Given the description of an element on the screen output the (x, y) to click on. 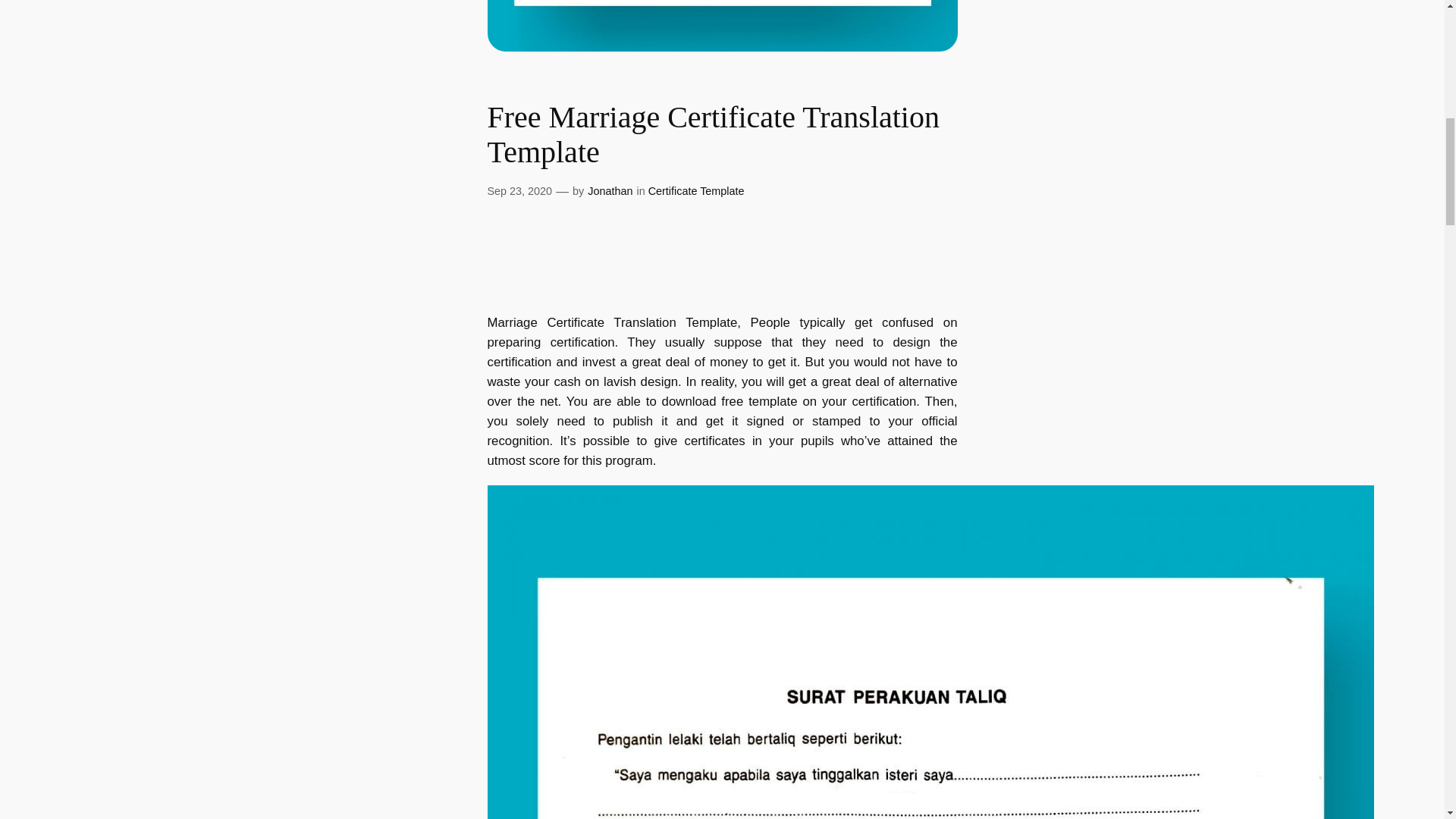
Sep 23, 2020 (518, 191)
Certificate Template (695, 191)
Jonathan (609, 191)
